Given the description of an element on the screen output the (x, y) to click on. 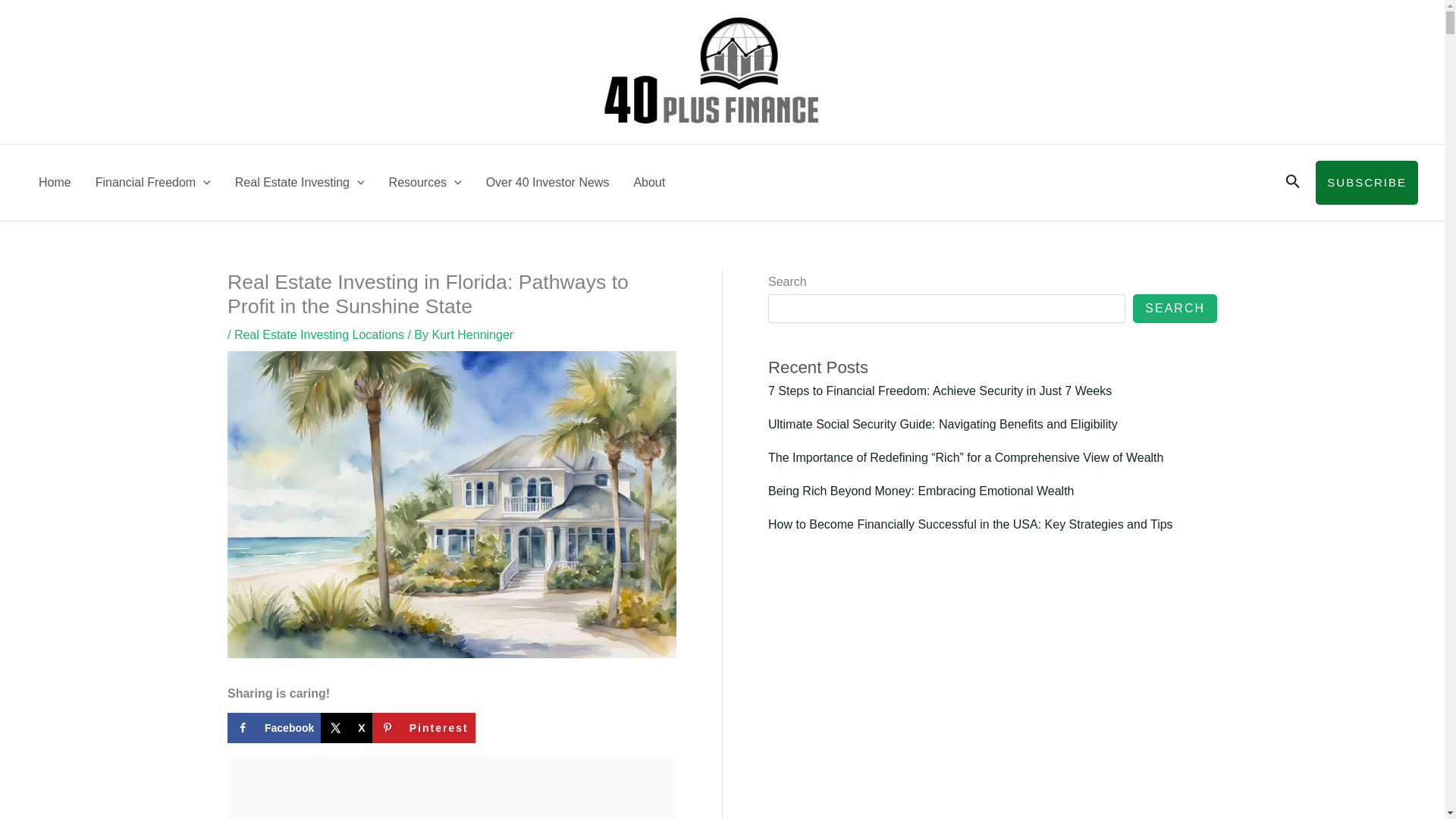
Kurt Henninger (471, 334)
View all posts by Kurt Henninger (471, 334)
Over 40 Investor News (547, 182)
Real Estate Investing (299, 182)
Resources (425, 182)
Home (54, 182)
Share on Facebook (273, 727)
Search (1293, 182)
Share on X (345, 727)
X (345, 727)
Facebook (273, 727)
SUBSCRIBE (1367, 182)
Real Estate Investing Locations (319, 334)
Save to Pinterest (424, 727)
Financial Freedom (152, 182)
